Given the description of an element on the screen output the (x, y) to click on. 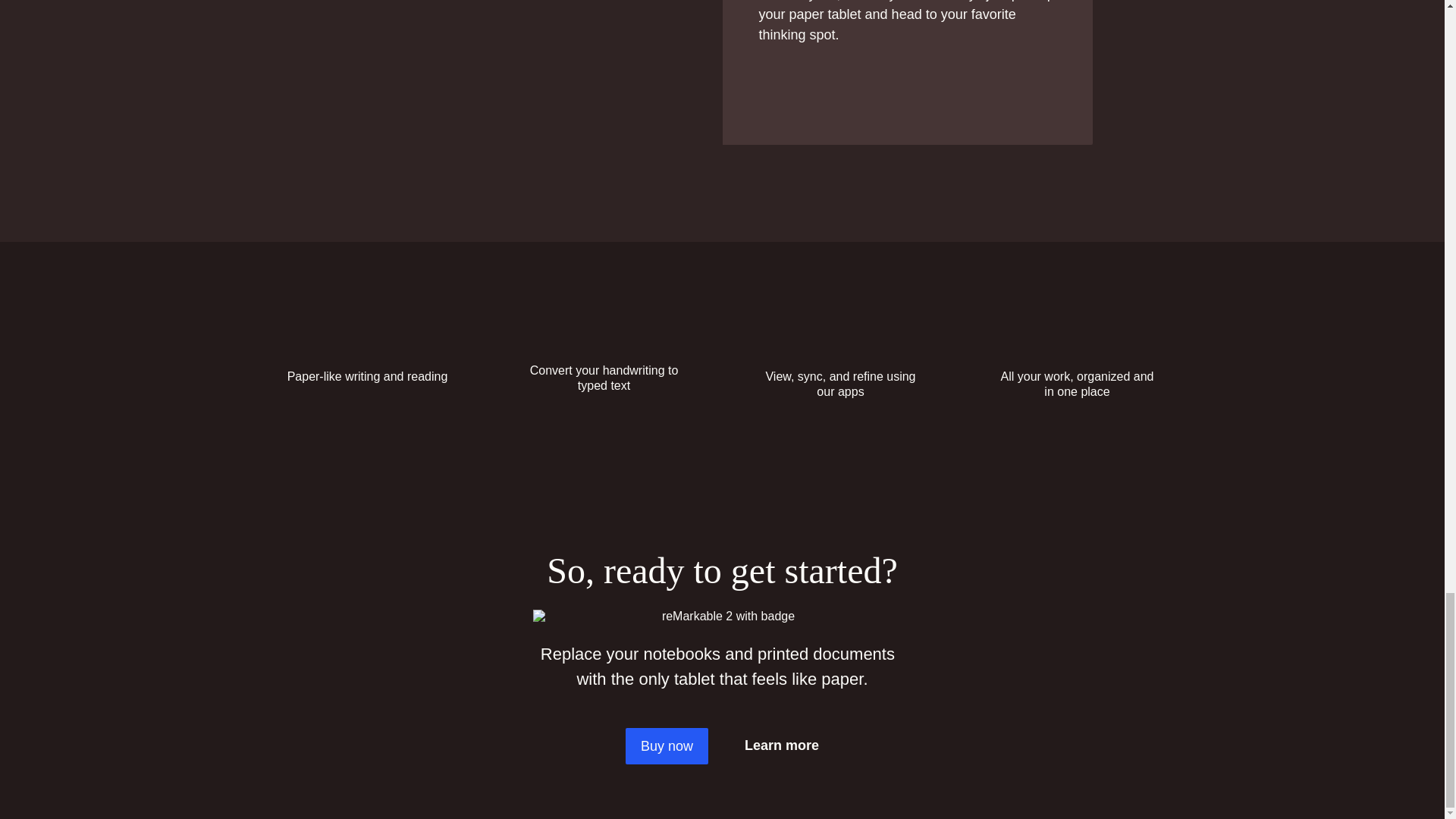
Buy now (666, 746)
Learn more (781, 745)
